Given the description of an element on the screen output the (x, y) to click on. 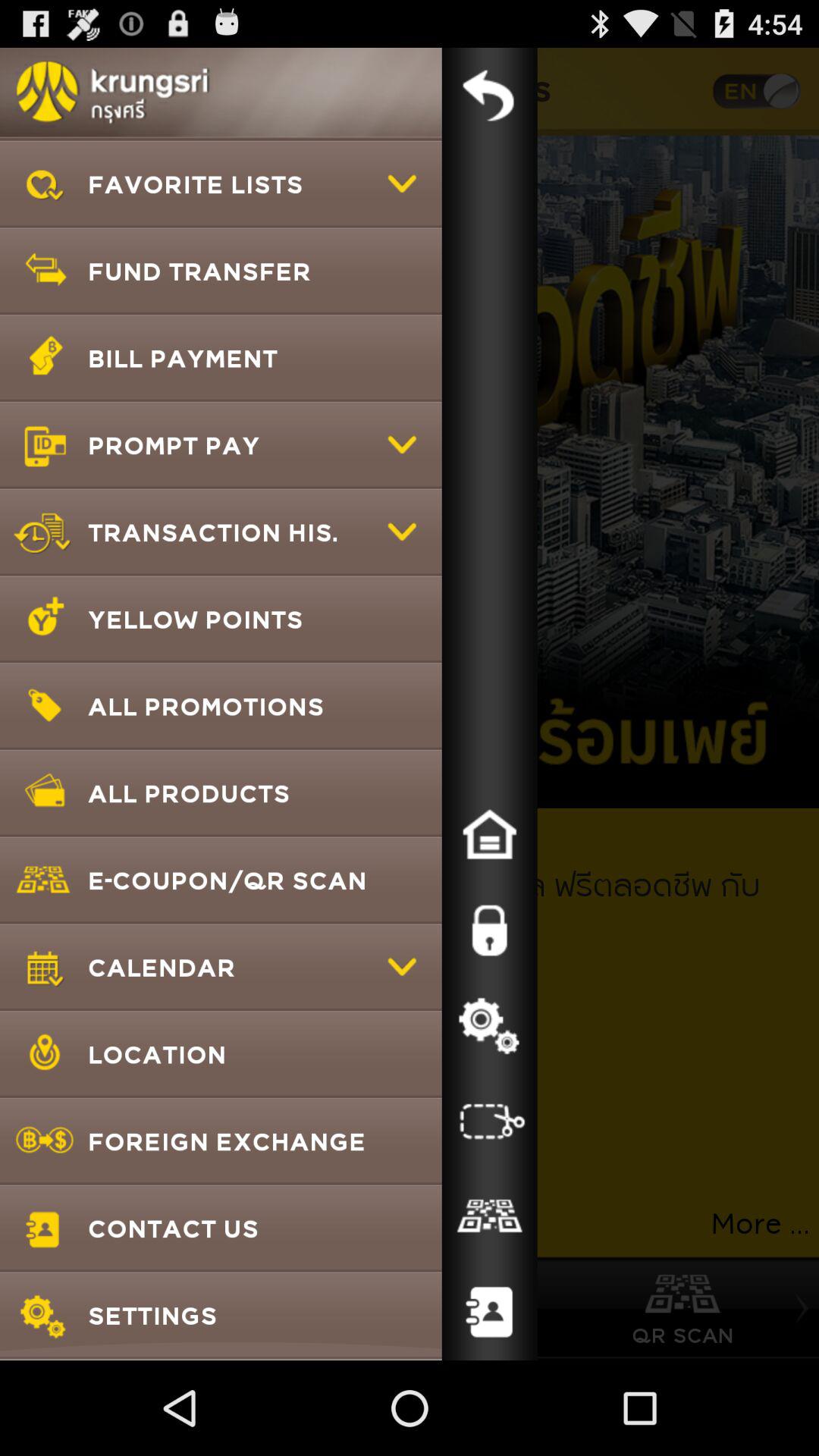
contact us option (489, 1312)
